Given the description of an element on the screen output the (x, y) to click on. 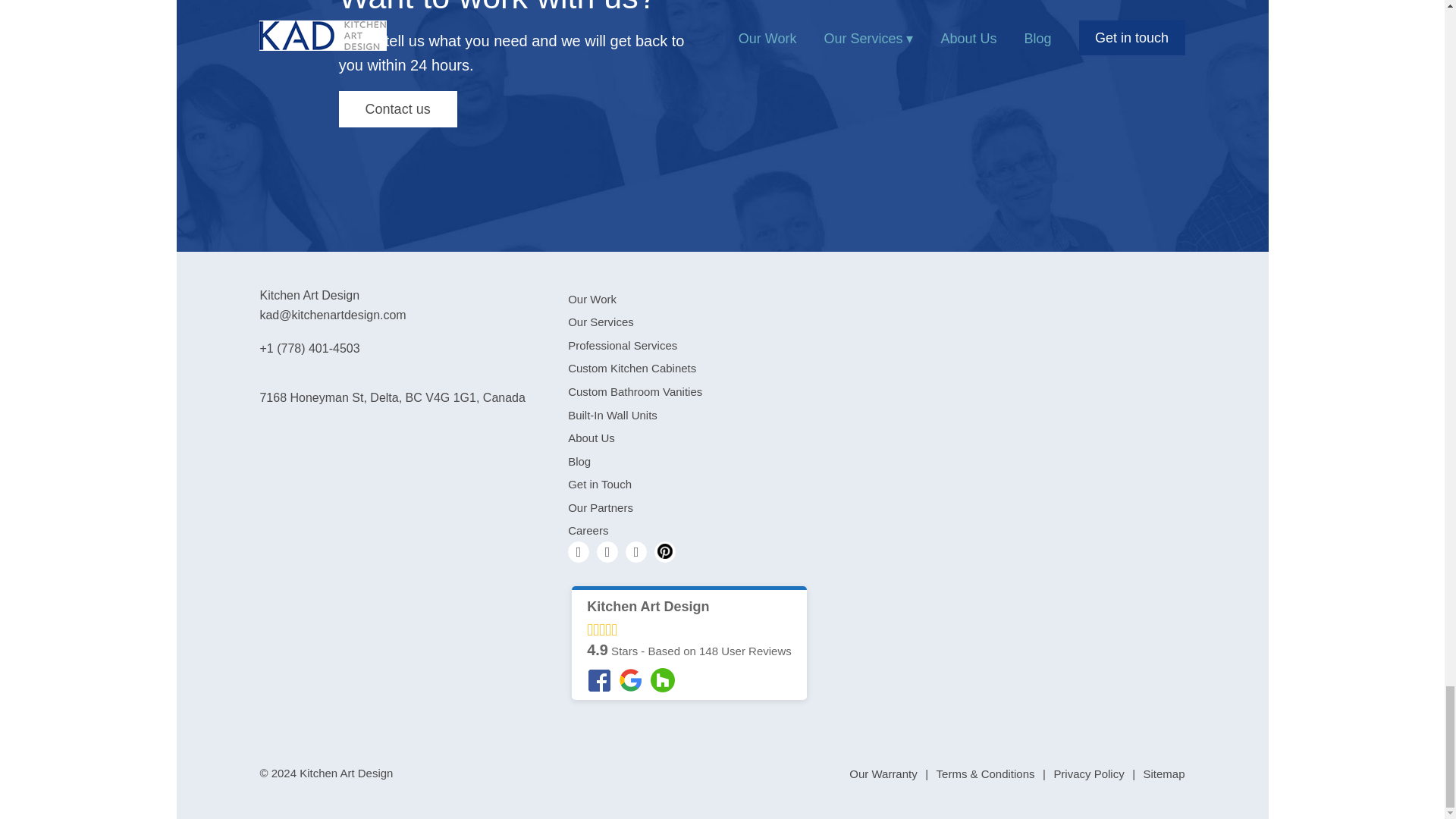
Our Work (591, 298)
Professional Services (622, 345)
Get in Touch (599, 483)
Blog (579, 461)
Custom Kitchen Cabinets (631, 367)
Contact us (398, 108)
Careers (587, 530)
Built-In Wall Units (612, 414)
Custom Bathroom Vanities (634, 391)
About Us (590, 437)
